Given the description of an element on the screen output the (x, y) to click on. 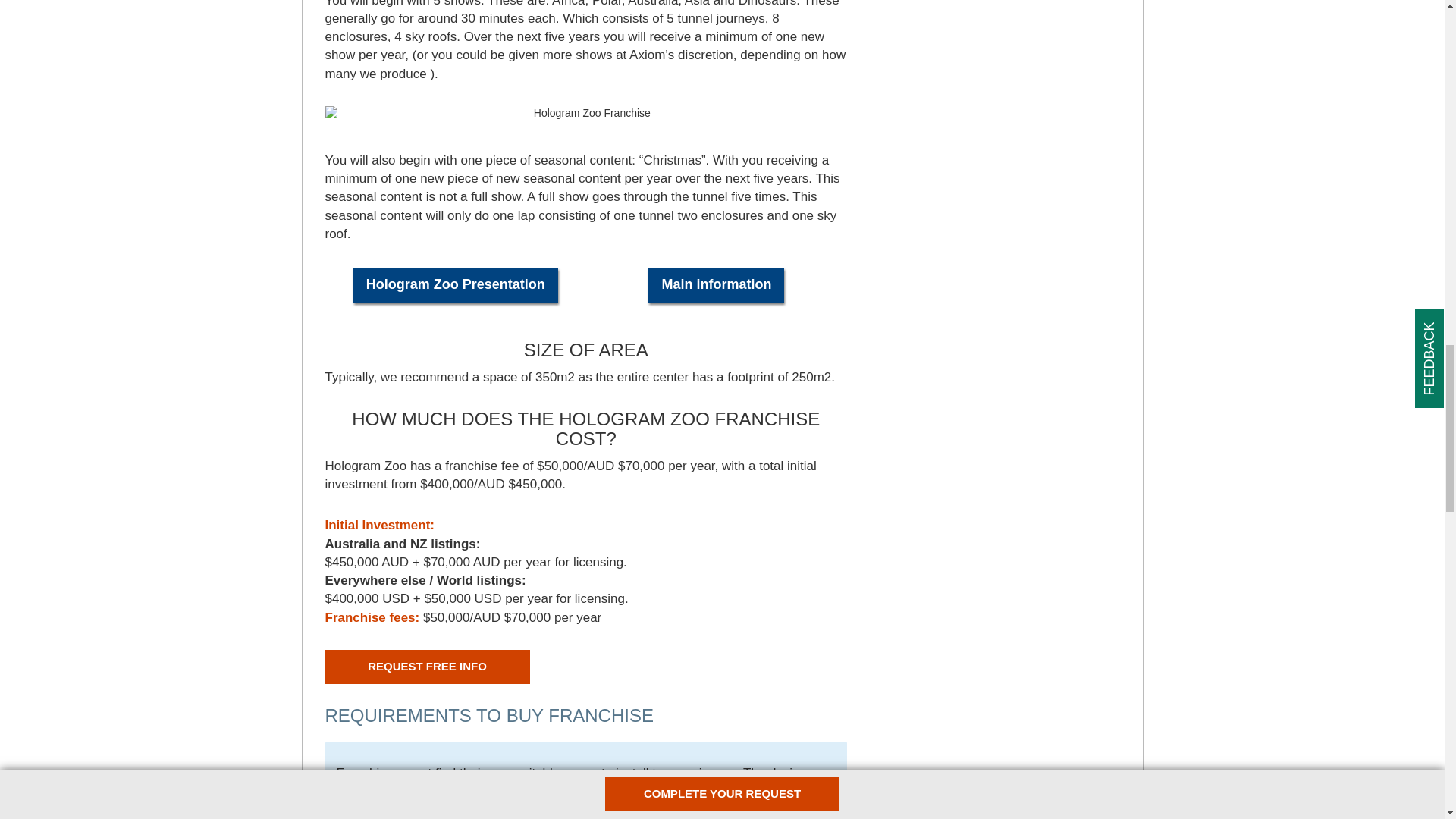
Hologram Zoo Franchise (585, 113)
